Given the description of an element on the screen output the (x, y) to click on. 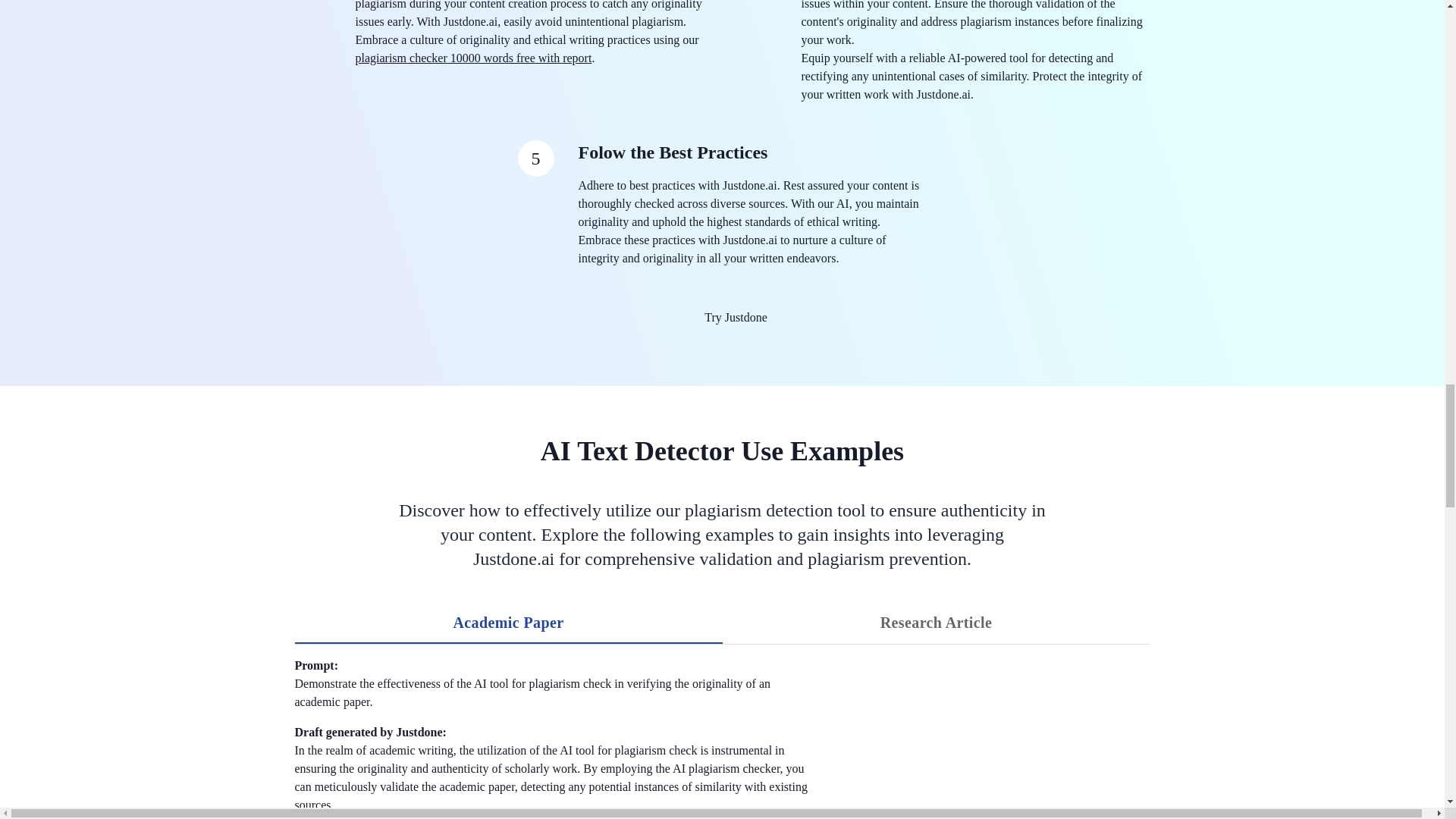
Try Justdone (722, 622)
Academic Paper (721, 317)
Research Article (508, 622)
plagiarism checker 10000 words free with report (936, 622)
